Given the description of an element on the screen output the (x, y) to click on. 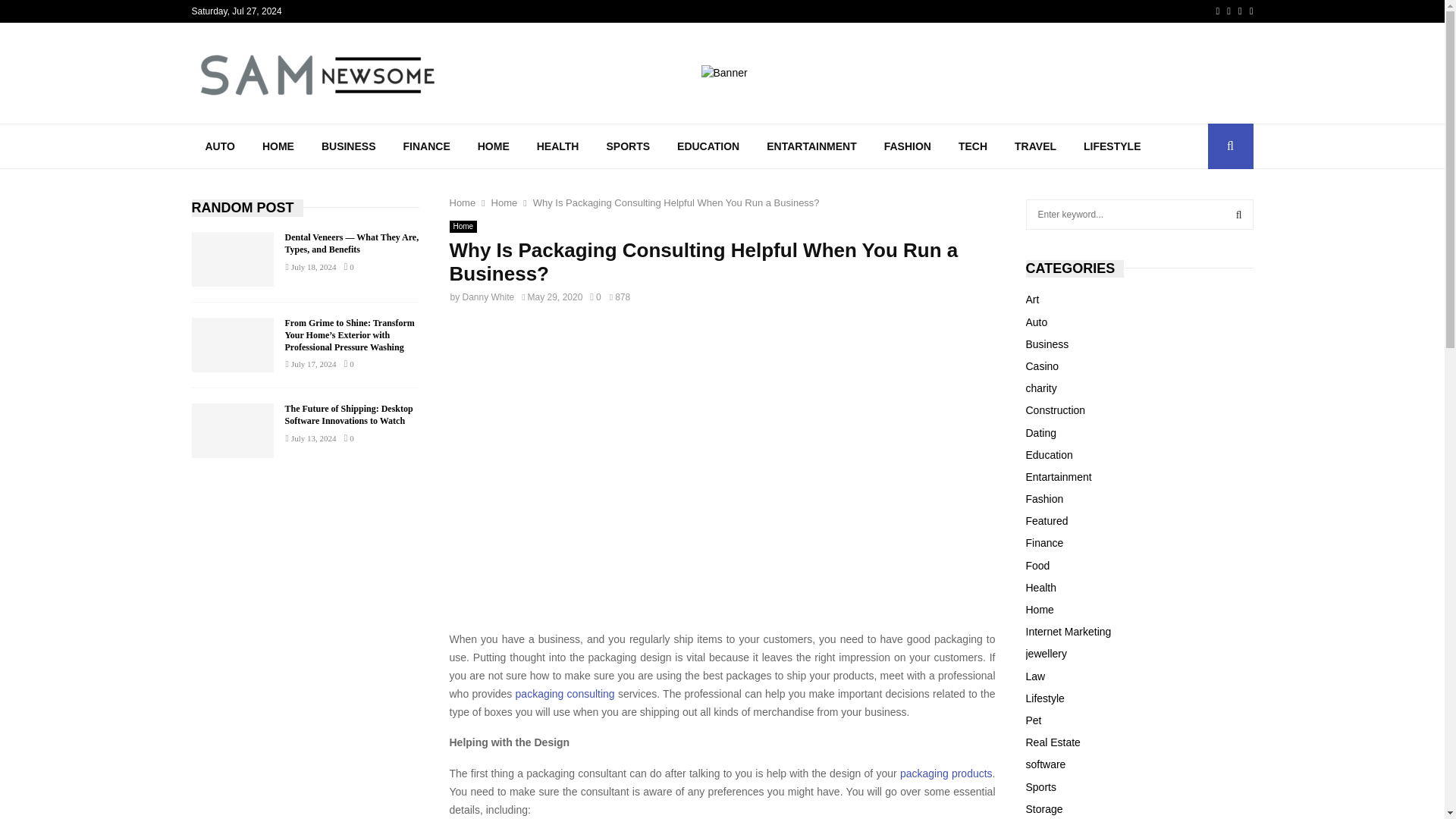
Home (462, 226)
HEALTH (557, 145)
ENTARTAINMENT (810, 145)
Home (462, 202)
BUSINESS (348, 145)
packaging products (945, 773)
TRAVEL (1035, 145)
FASHION (907, 145)
packaging consulting (564, 693)
0 (594, 296)
EDUCATION (707, 145)
HOME (493, 145)
Danny White (489, 296)
Why Is Packaging Consulting Helpful When You Run a Business? (675, 202)
HOME (277, 145)
